Given the description of an element on the screen output the (x, y) to click on. 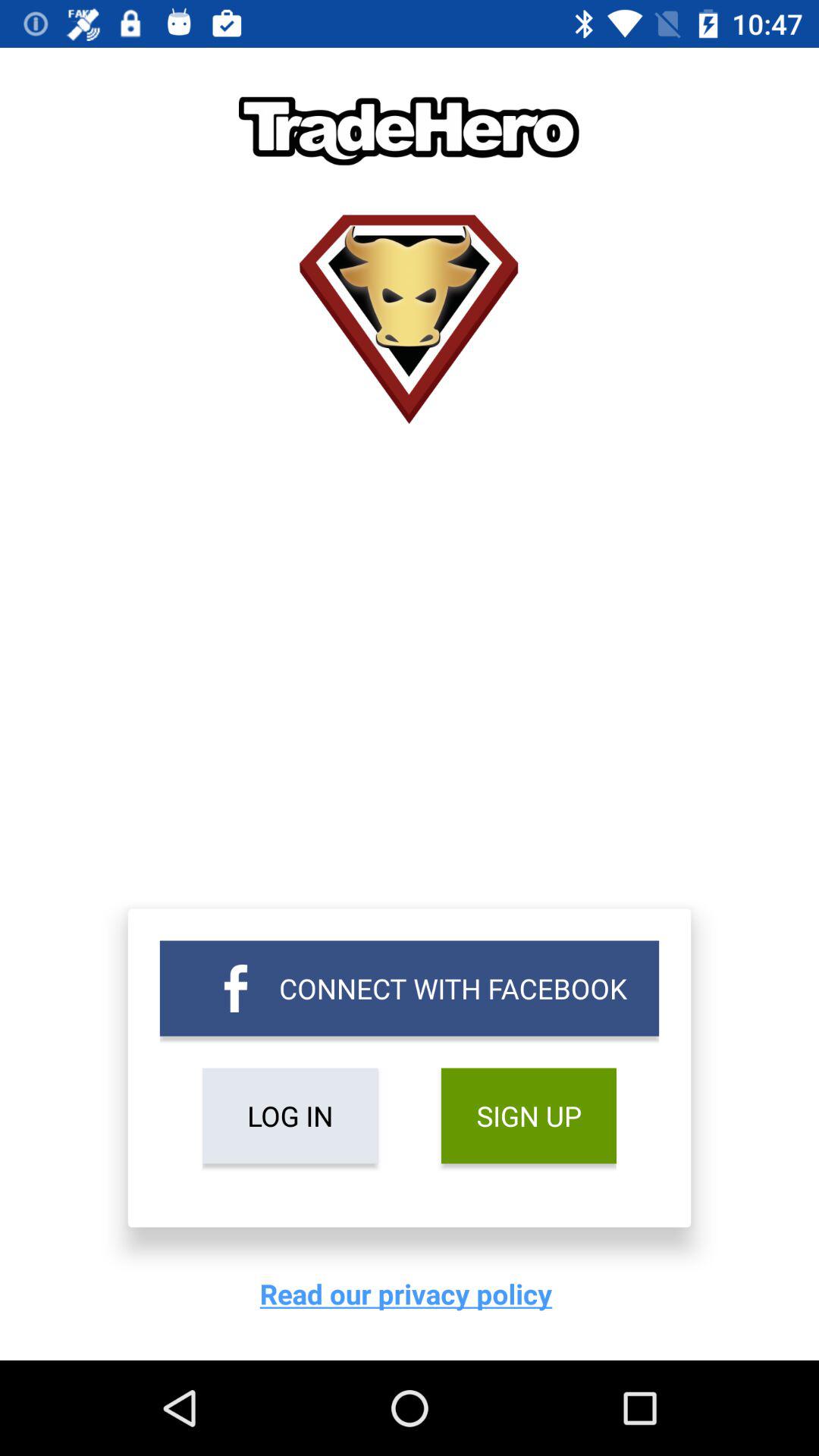
turn on the icon above read our privacy (528, 1115)
